Given the description of an element on the screen output the (x, y) to click on. 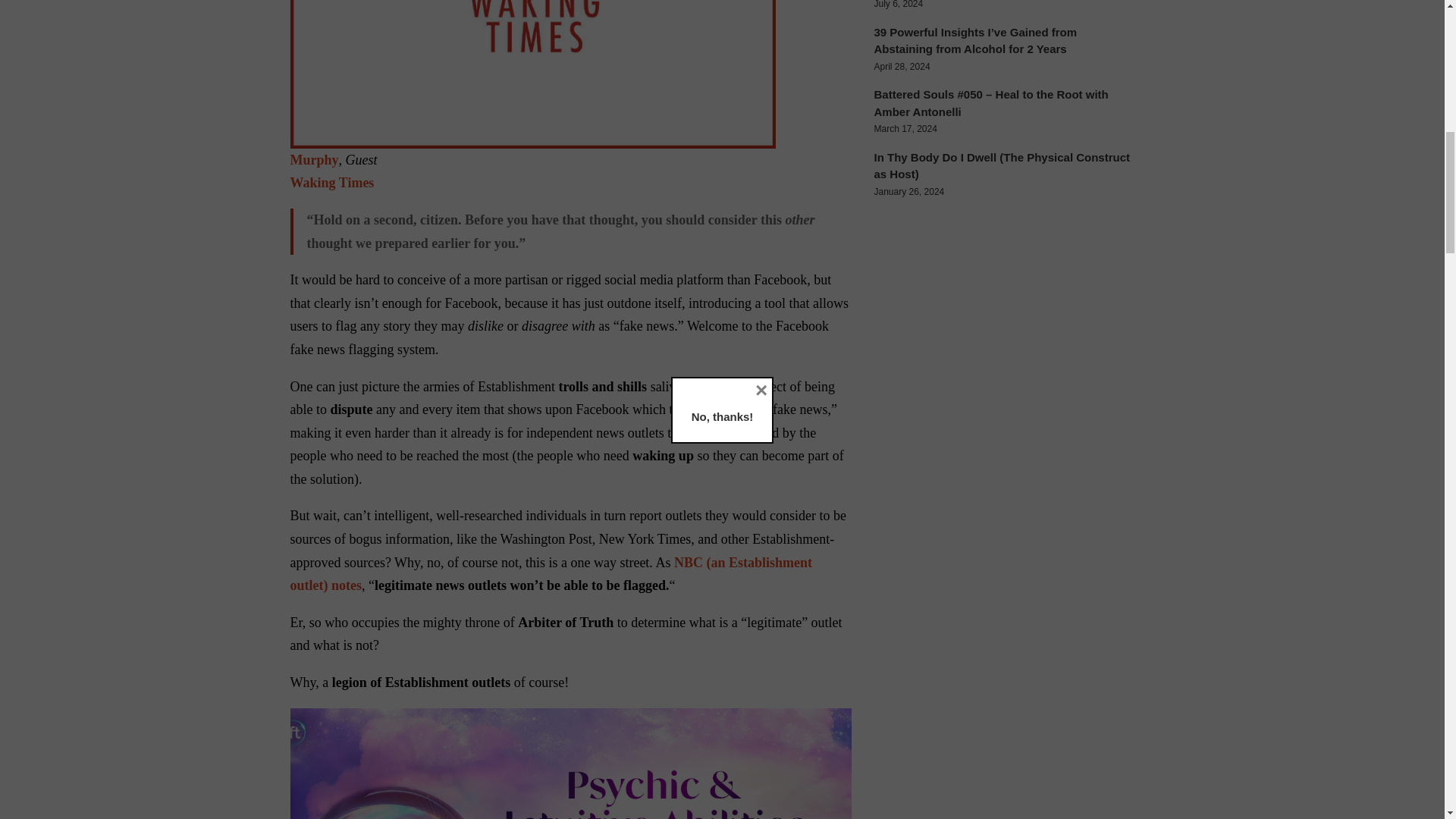
Waking Times (331, 182)
Brendan D. Murphy (566, 83)
